Given the description of an element on the screen output the (x, y) to click on. 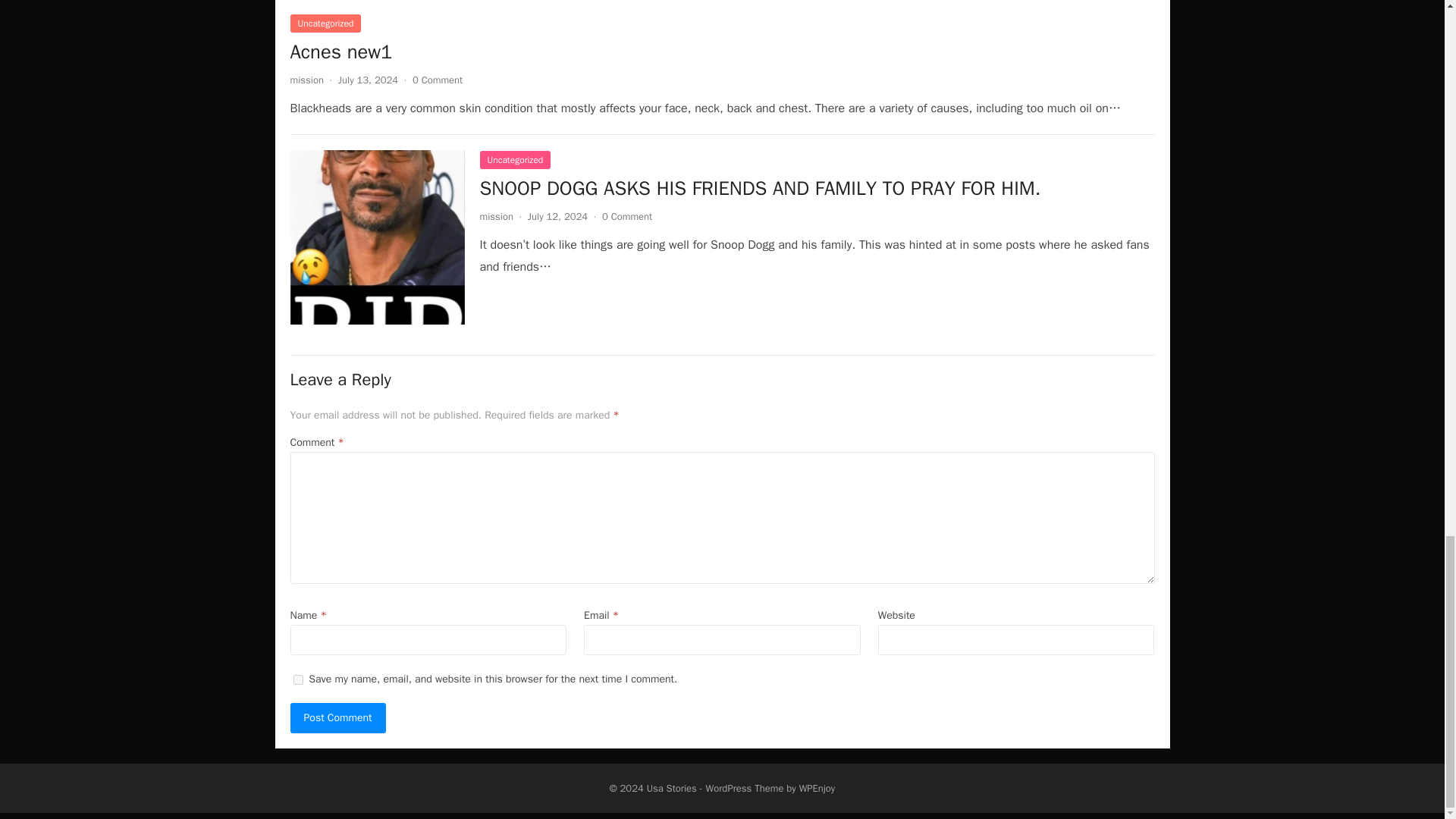
mission (306, 79)
Uncategorized (514, 159)
yes (297, 679)
SNOOP DOGG ASKS HIS FRIENDS AND FAMILY TO PRAY FOR HIM. (760, 188)
Posts by mission (495, 215)
Post Comment (337, 717)
Posts by mission (306, 79)
Uncategorized (325, 23)
mission (495, 215)
Acnes new1 (340, 51)
0 Comment (437, 79)
